Given the description of an element on the screen output the (x, y) to click on. 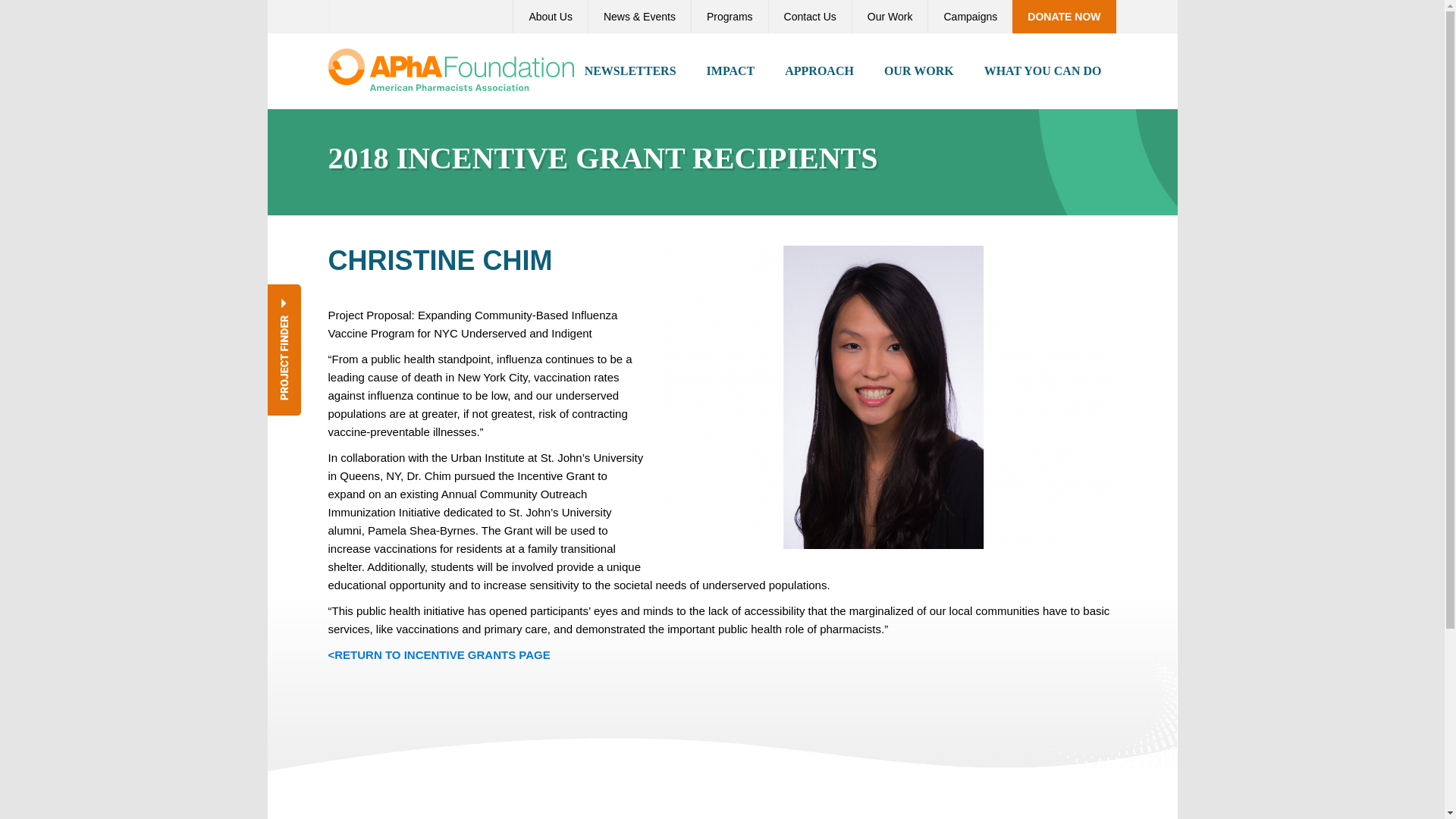
Our Work (889, 16)
Campaigns (969, 16)
DONATE NOW (1063, 16)
APPROACH (819, 71)
NEWSLETTERS (630, 71)
Programs (729, 16)
Newsletters (630, 71)
IMPACT (730, 71)
Home (450, 68)
Approach (819, 71)
Contact Us (809, 16)
What You Can Do (1042, 71)
About Us (550, 16)
OUR WORK (919, 71)
Donate Now (1063, 16)
